Given the description of an element on the screen output the (x, y) to click on. 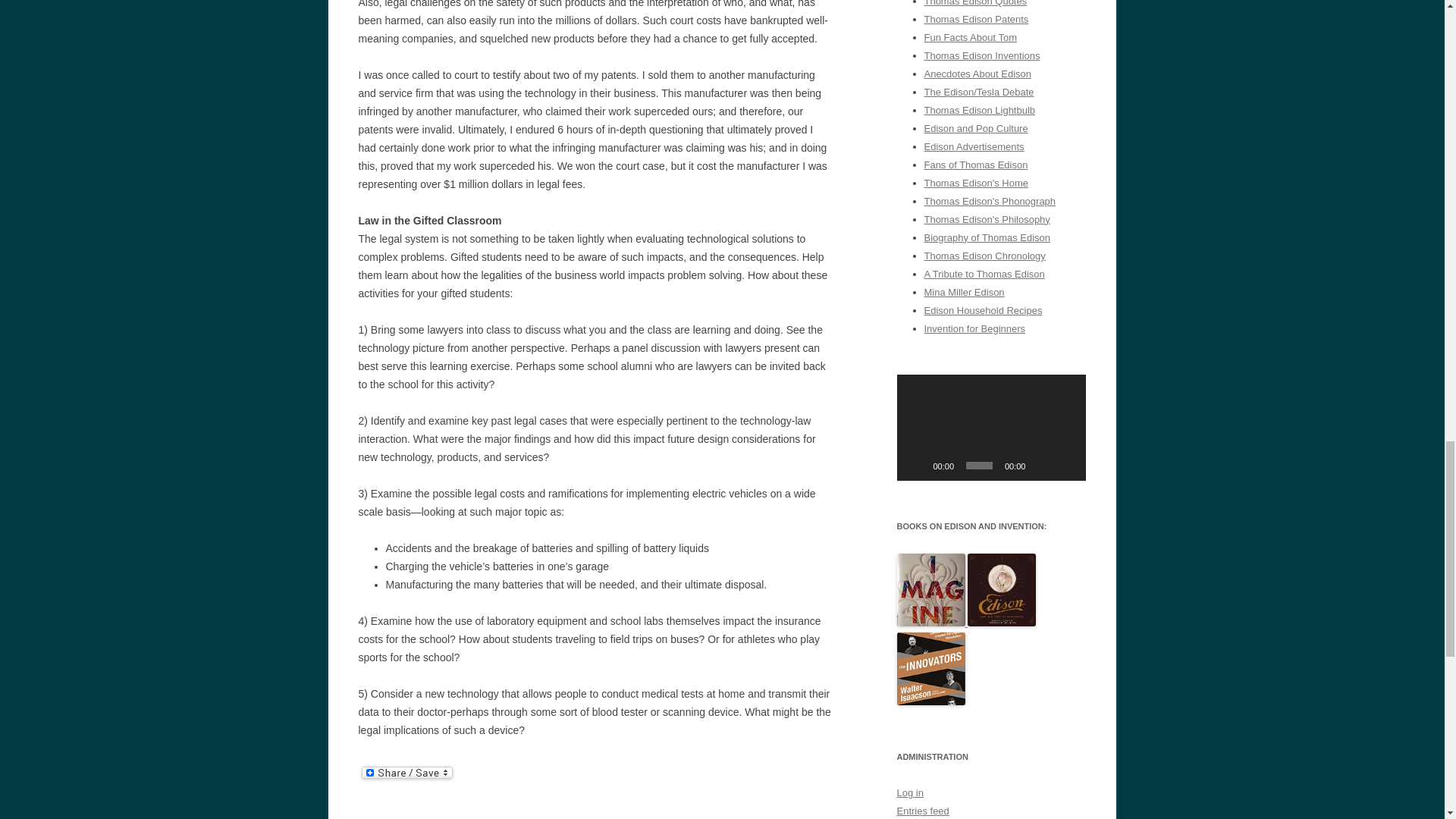
Fullscreen (1066, 465)
Thomas Edison Inventions (981, 55)
Play (915, 465)
Thomas Edison Patents (975, 19)
Fun Facts About Tom (969, 37)
Thomas Edison Quotes (974, 3)
Mute (1041, 465)
